Given the description of an element on the screen output the (x, y) to click on. 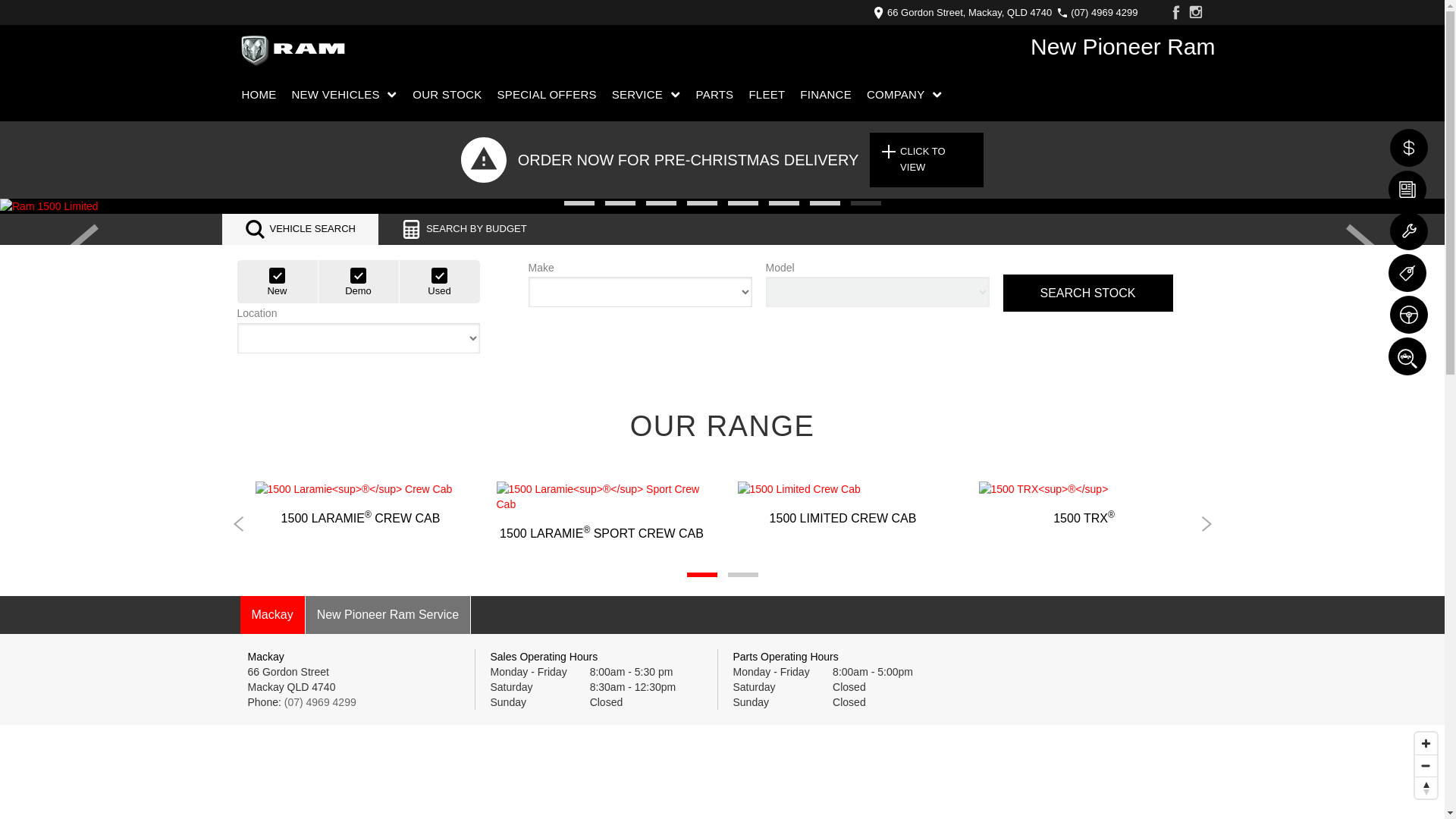
New Pioneer Ram Service Element type: text (387, 614)
SPECIAL OFFERS Element type: text (545, 94)
FLEET Element type: text (766, 94)
(07) 4969 4299 Element type: text (1100, 12)
66 Gordon Street, Mackay, QLD 4740 Element type: text (965, 12)
SEARCH BY BUDGET Element type: text (463, 228)
ORDER NOW FOR PRE-CHRISTMAS DELIVERY
CLICK TO VIEW Element type: text (722, 159)
SEARCH STOCK Element type: text (1087, 292)
(07) 4969 4299 Element type: text (320, 702)
SERVICE Element type: text (646, 94)
Reset bearing to north Element type: hover (1426, 787)
1500 LIMITED CREW CAB Element type: text (842, 503)
FINANCE Element type: text (825, 94)
Mackay Element type: text (271, 614)
Zoom out Element type: hover (1426, 765)
VEHICLE SEARCH Element type: text (299, 228)
OUR STOCK Element type: text (446, 94)
NEW VEHICLES Element type: text (344, 94)
Zoom in Element type: hover (1426, 743)
HOME Element type: text (261, 94)
PARTS Element type: text (714, 94)
COMPANY Element type: text (904, 94)
